Given the description of an element on the screen output the (x, y) to click on. 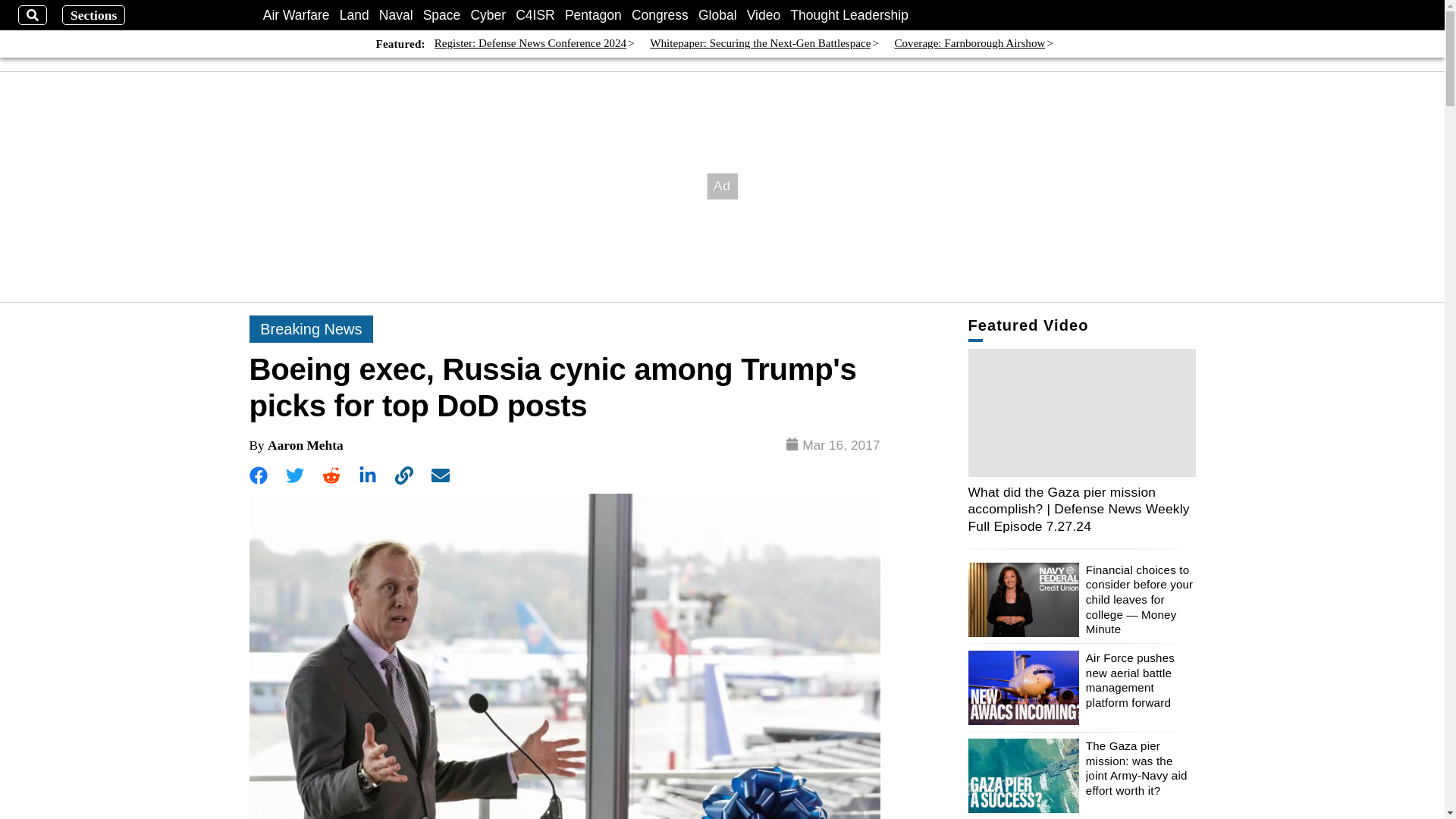
Pentagon (592, 14)
Sections (93, 14)
Space (442, 14)
Land (354, 14)
Thought Leadership (849, 14)
Congress (659, 14)
Air Warfare (296, 14)
Global (717, 14)
Naval (395, 14)
Video (763, 14)
